Given the description of an element on the screen output the (x, y) to click on. 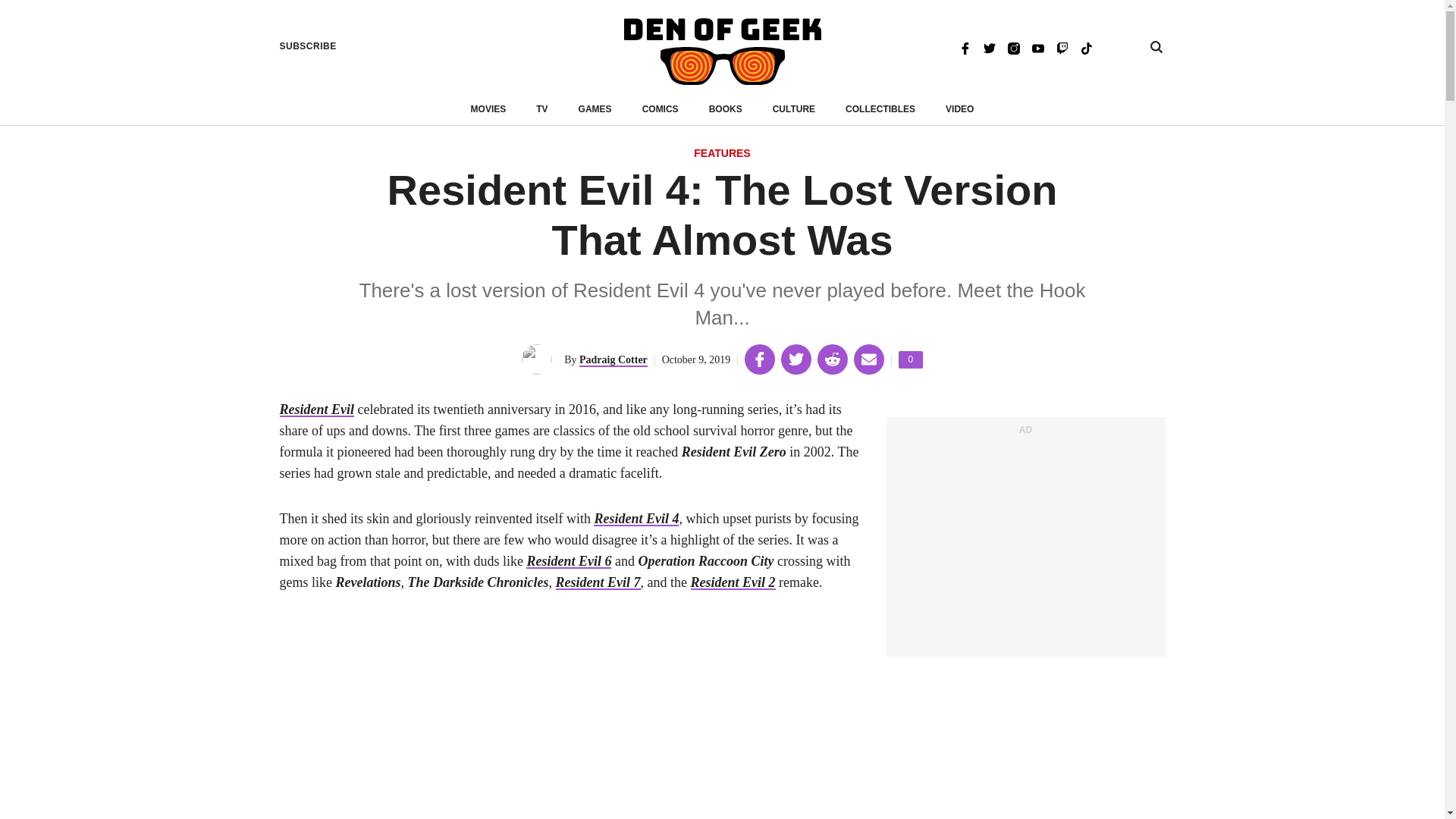
Resident Evil 2 (732, 581)
COLLECTIBLES (880, 109)
Resident Evil 6 (568, 560)
GAMES (910, 359)
COMICS (594, 109)
Resident Evil (660, 109)
Resident Evil 7 (316, 409)
Resident Evil 2 Review (598, 581)
VIDEO (732, 581)
